Given the description of an element on the screen output the (x, y) to click on. 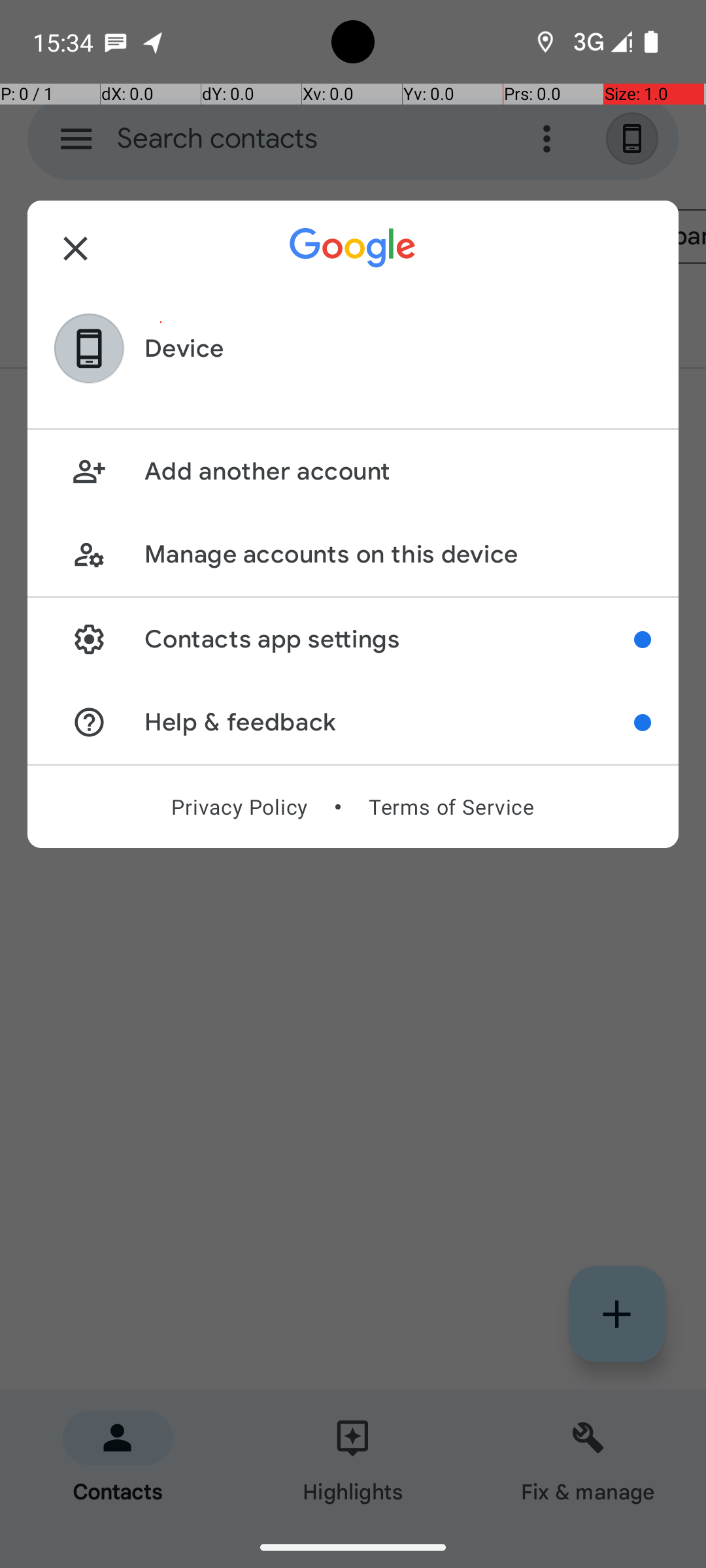
Close Element type: android.widget.ImageView (75, 248)
Privacy Policy Element type: android.widget.Button (239, 806)
Terms of Service Element type: android.widget.Button (450, 806)
Device Element type: android.widget.TextView (184, 348)
Add another account Element type: android.widget.TextView (397, 471)
Manage accounts on this device Element type: android.widget.TextView (397, 554)
Contacts app settings Element type: android.widget.TextView (389, 638)
Now you can find Settings and Help & feedback here Element type: android.widget.FrameLayout (642, 639)
Help & feedback Element type: android.widget.TextView (389, 721)
SMS Messenger notification: Noa Mohamed Element type: android.widget.ImageView (115, 41)
